Given the description of an element on the screen output the (x, y) to click on. 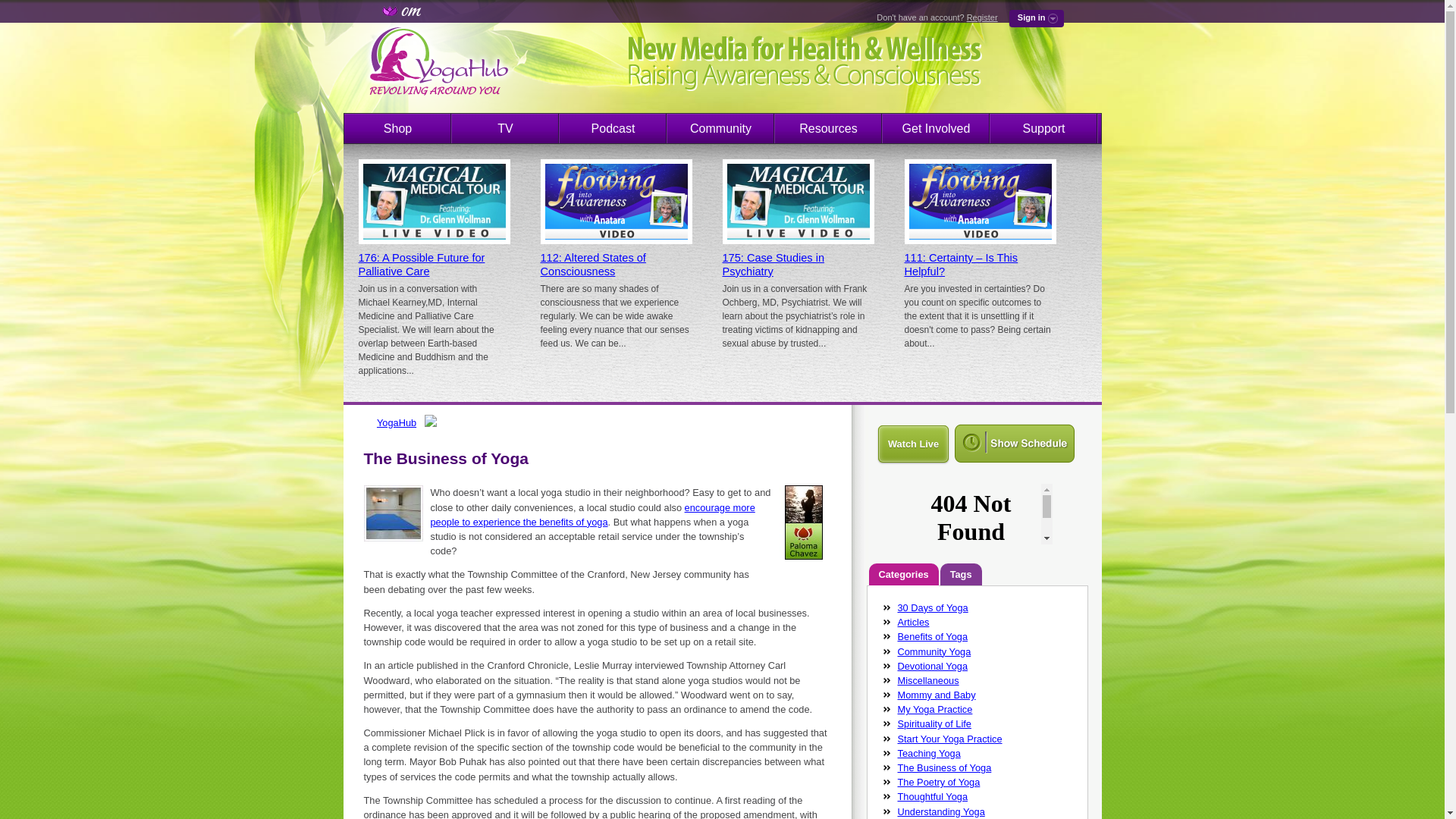
TV (505, 128)
Yoga but not Yoga: Raider Relaxation (592, 514)
Podcast (612, 128)
Posts by Paloma Chavez (803, 562)
Register (981, 17)
112: Altered States of Consciousness (592, 264)
176: A Possible Future for Palliative Care (421, 264)
Sign in (1036, 18)
Resources (828, 128)
175: Case Studies in Psychiatry (773, 264)
